Given the description of an element on the screen output the (x, y) to click on. 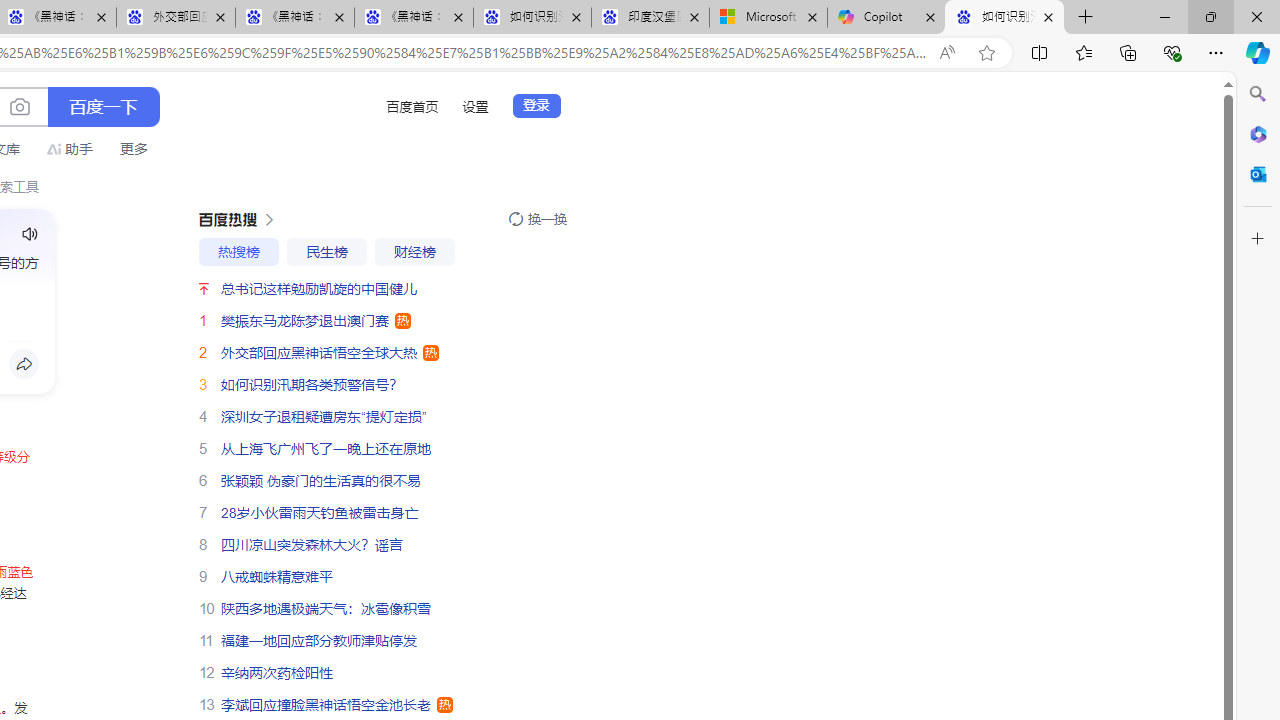
Class: sc-audio-svg _pause-icon_13ucw_87 (29, 233)
